Given the description of an element on the screen output the (x, y) to click on. 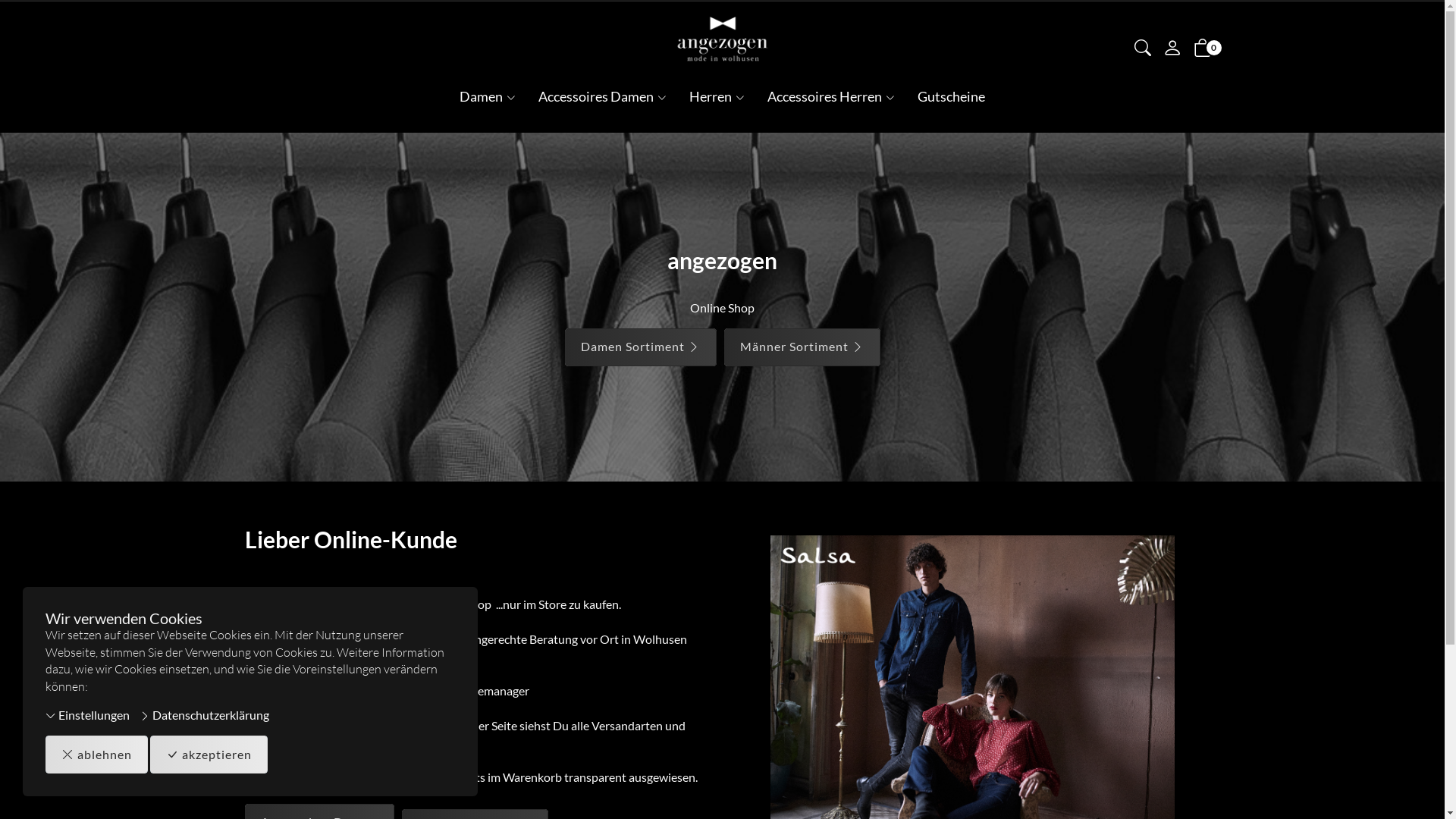
akzeptieren Element type: text (208, 754)
Suche Element type: hover (1142, 49)
Mein Konto Element type: hover (1171, 50)
Accessoires Damen Element type: text (602, 97)
0 Element type: text (1202, 49)
Einstellungen Element type: text (87, 715)
Damen Element type: text (487, 97)
Herren Element type: text (716, 97)
Accessoires Herren Element type: text (831, 97)
Damen Sortiment  Element type: text (639, 347)
Gutscheine Element type: text (951, 97)
ablehnen Element type: text (96, 754)
